Given the description of an element on the screen output the (x, y) to click on. 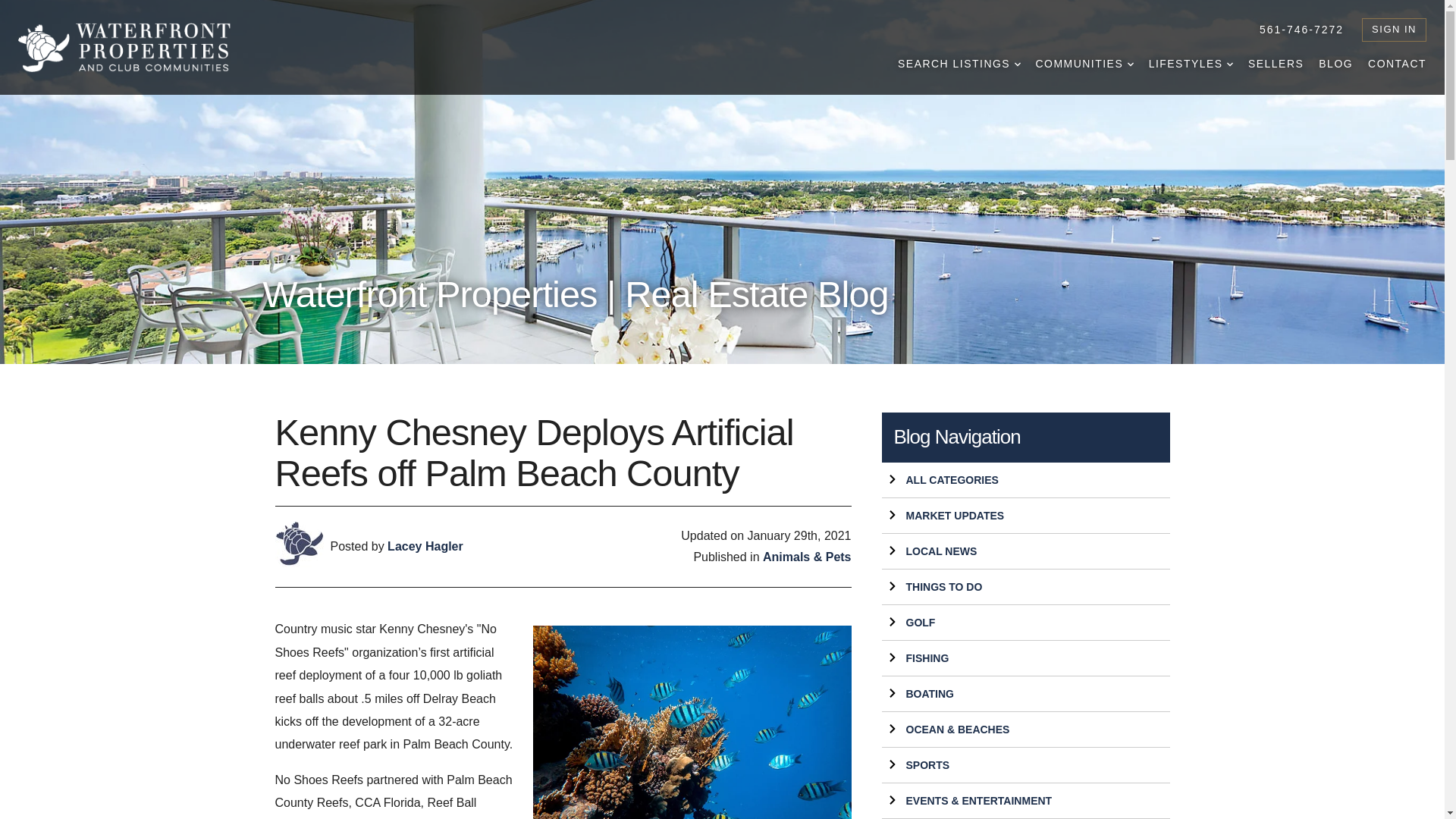
SEARCH LISTINGS DROPDOWN ARROW (959, 63)
DROPDOWN ARROW (1130, 64)
561-746-7272 (1301, 29)
LIFESTYLES DROPDOWN ARROW (1190, 63)
DROPDOWN ARROW (1230, 64)
SIGN IN (1393, 29)
DROPDOWN ARROW (1017, 64)
COMMUNITIES DROPDOWN ARROW (1084, 63)
